Given the description of an element on the screen output the (x, y) to click on. 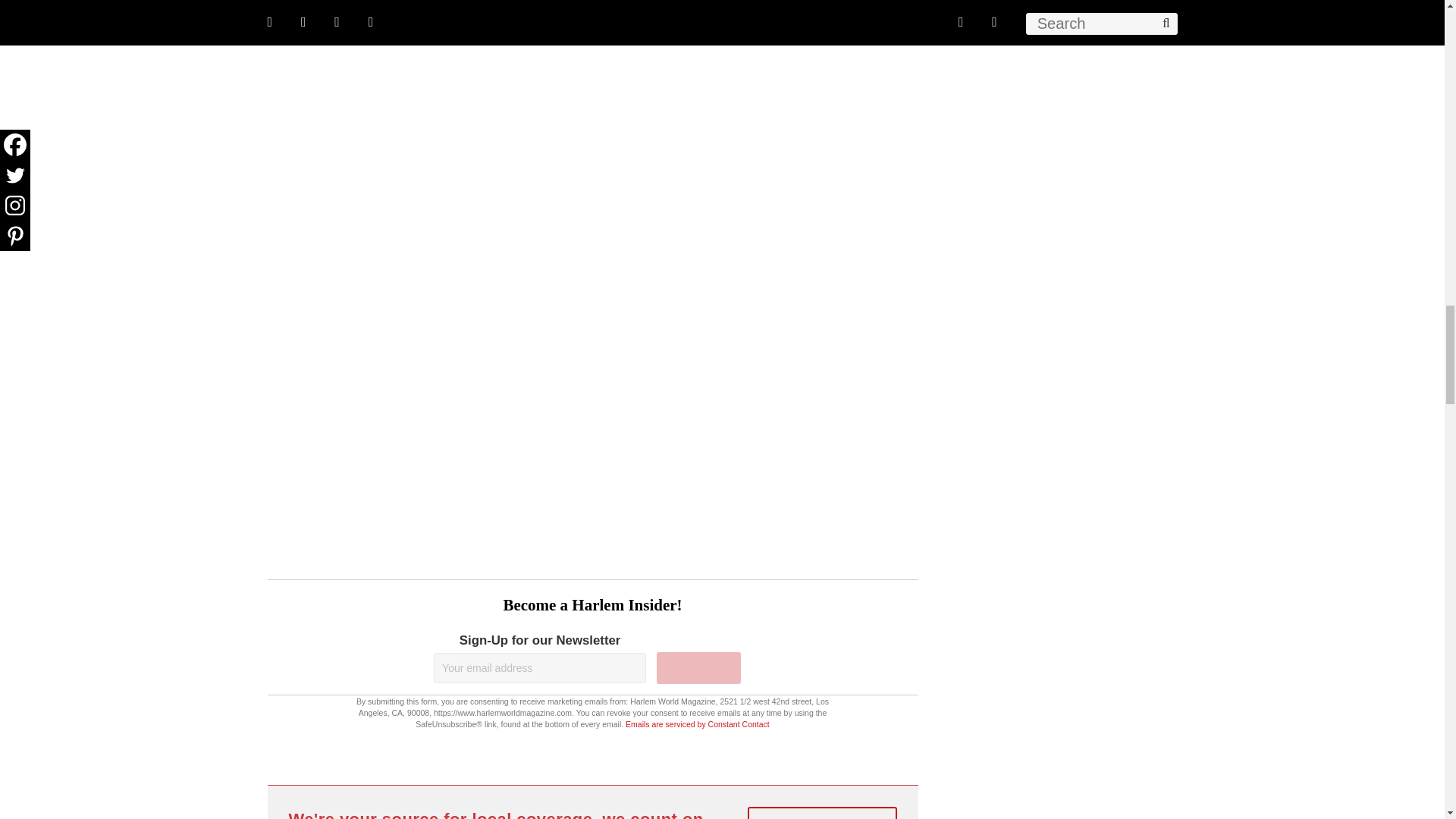
Sign up (698, 667)
Emails are serviced by Constant Contact (698, 723)
Sign up (698, 667)
